Given the description of an element on the screen output the (x, y) to click on. 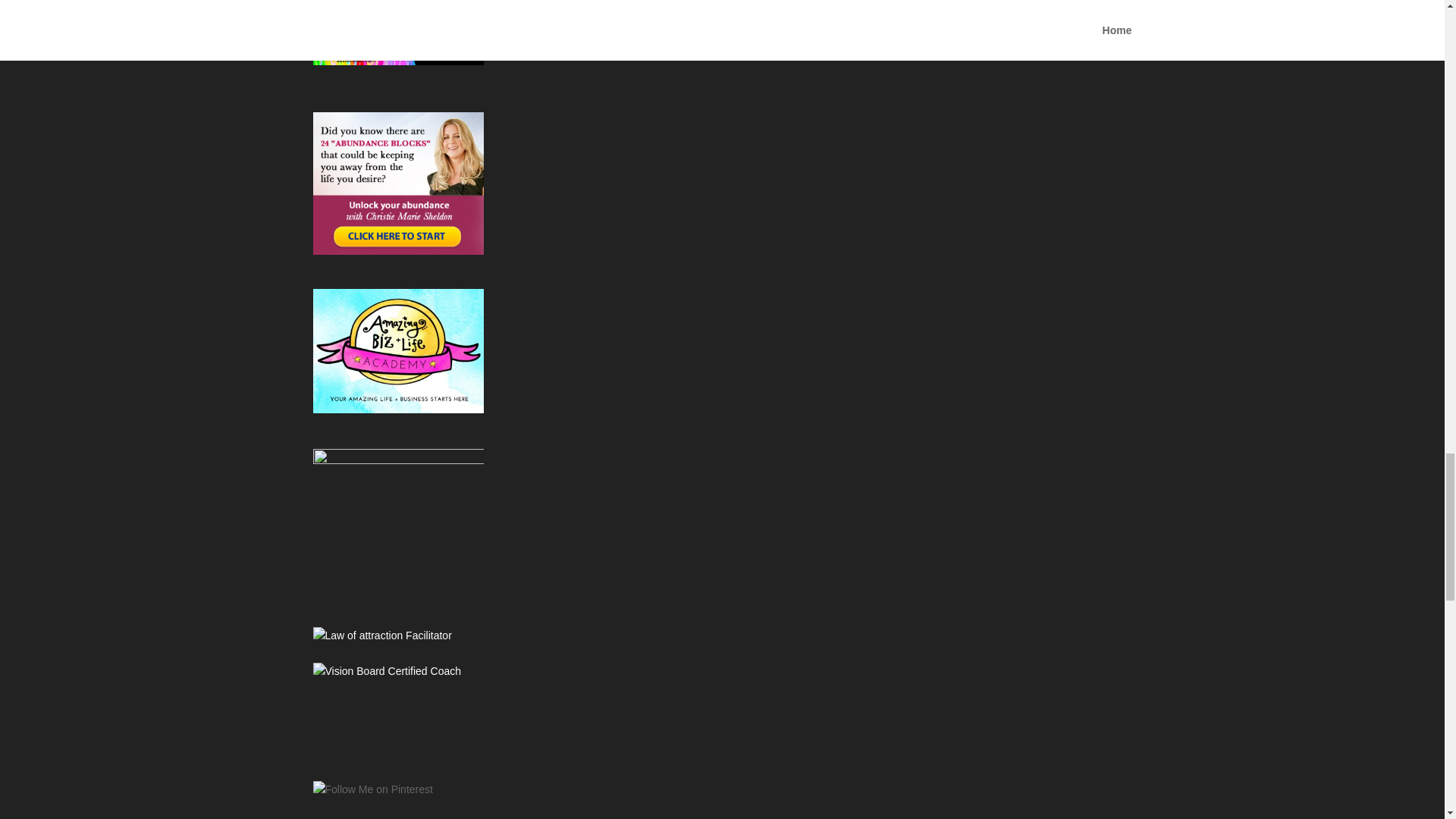
Law of attraction Facilitator (398, 636)
ALBA (398, 351)
Vision Board Certified Coach (398, 671)
